Given the description of an element on the screen output the (x, y) to click on. 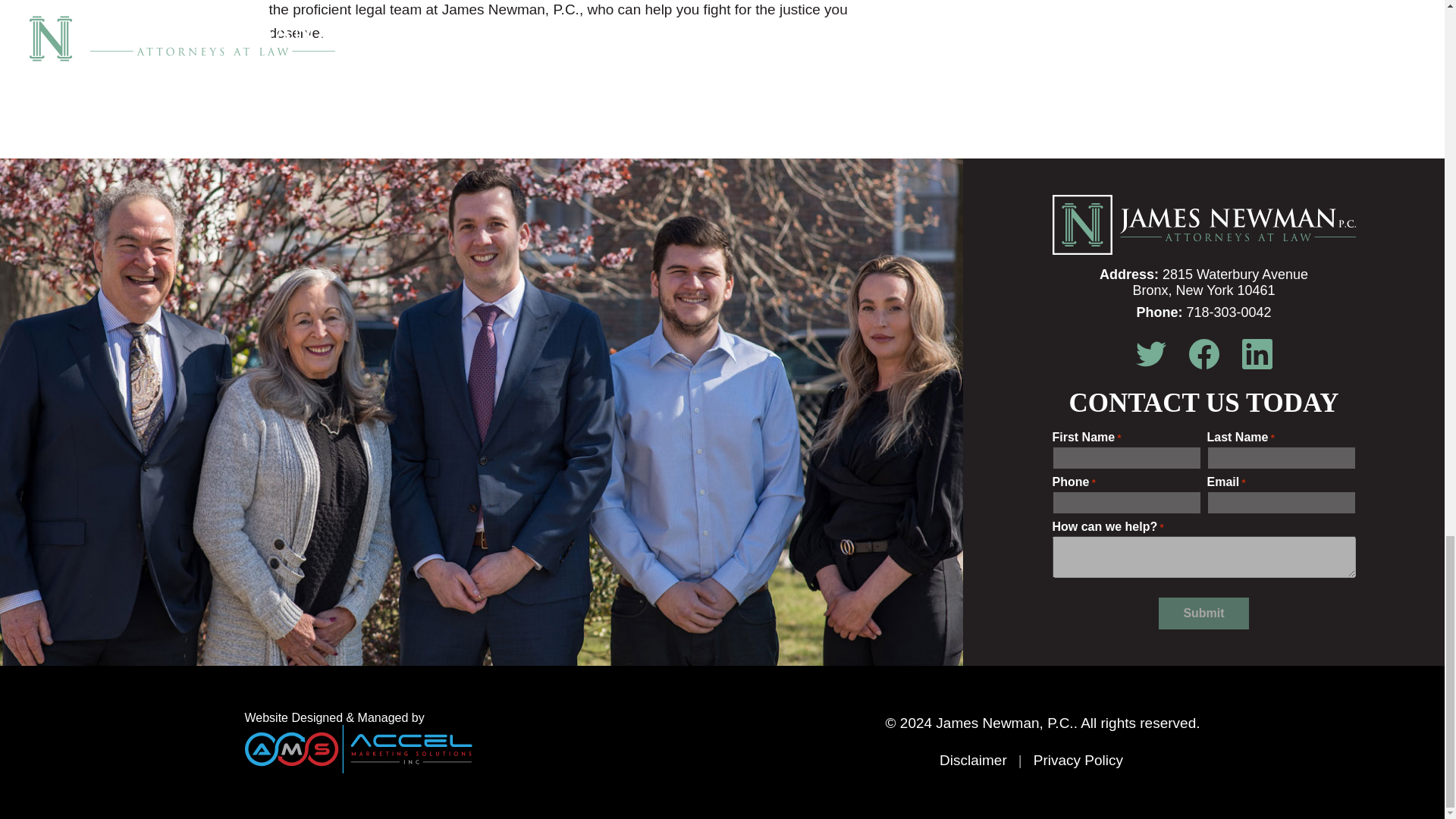
Submit (1202, 613)
